Given the description of an element on the screen output the (x, y) to click on. 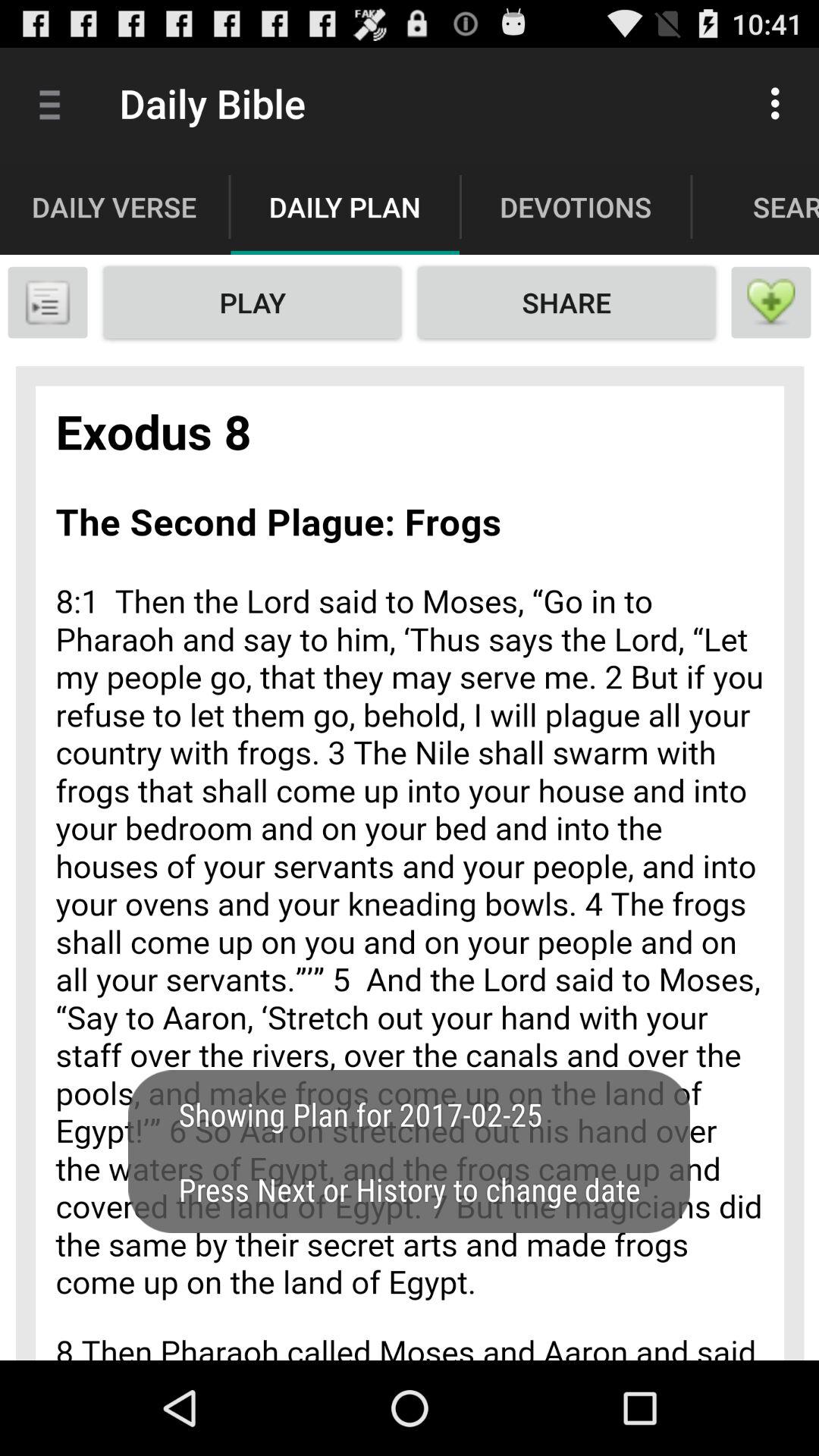
show contents (47, 302)
